Given the description of an element on the screen output the (x, y) to click on. 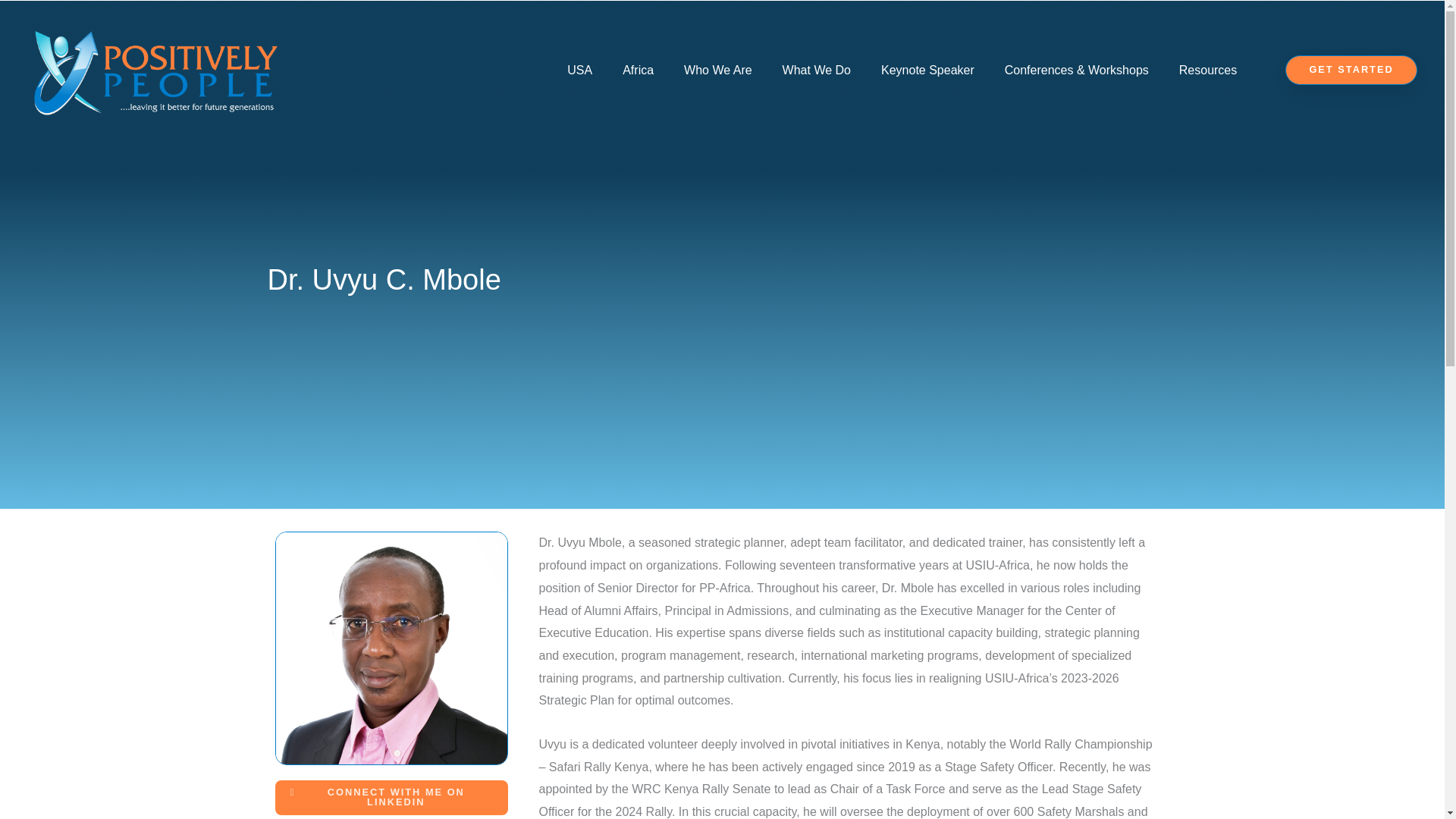
Keynote Speaker (928, 70)
CONNECT WITH ME ON LINKEDIN (391, 797)
USA (579, 70)
GET STARTED (1350, 70)
Africa (637, 70)
Resources (1207, 70)
What We Do (816, 70)
Who We Are (717, 70)
